Given the description of an element on the screen output the (x, y) to click on. 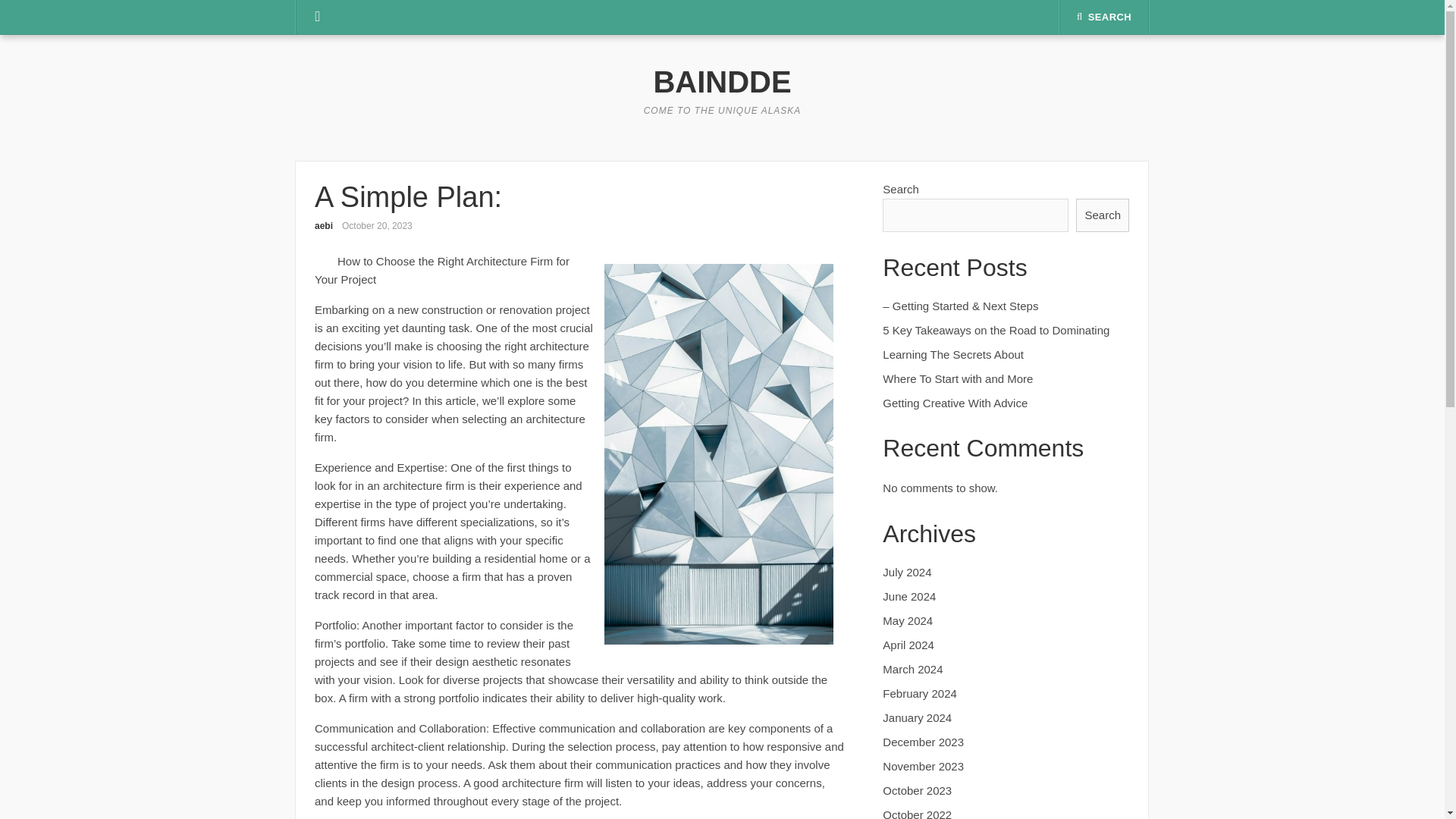
SEARCH (1104, 16)
October 2022 (917, 813)
March 2024 (912, 668)
January 2024 (917, 717)
April 2024 (908, 644)
June 2024 (909, 595)
aebi (323, 225)
February 2024 (919, 693)
July 2024 (906, 571)
December 2023 (922, 741)
